Given the description of an element on the screen output the (x, y) to click on. 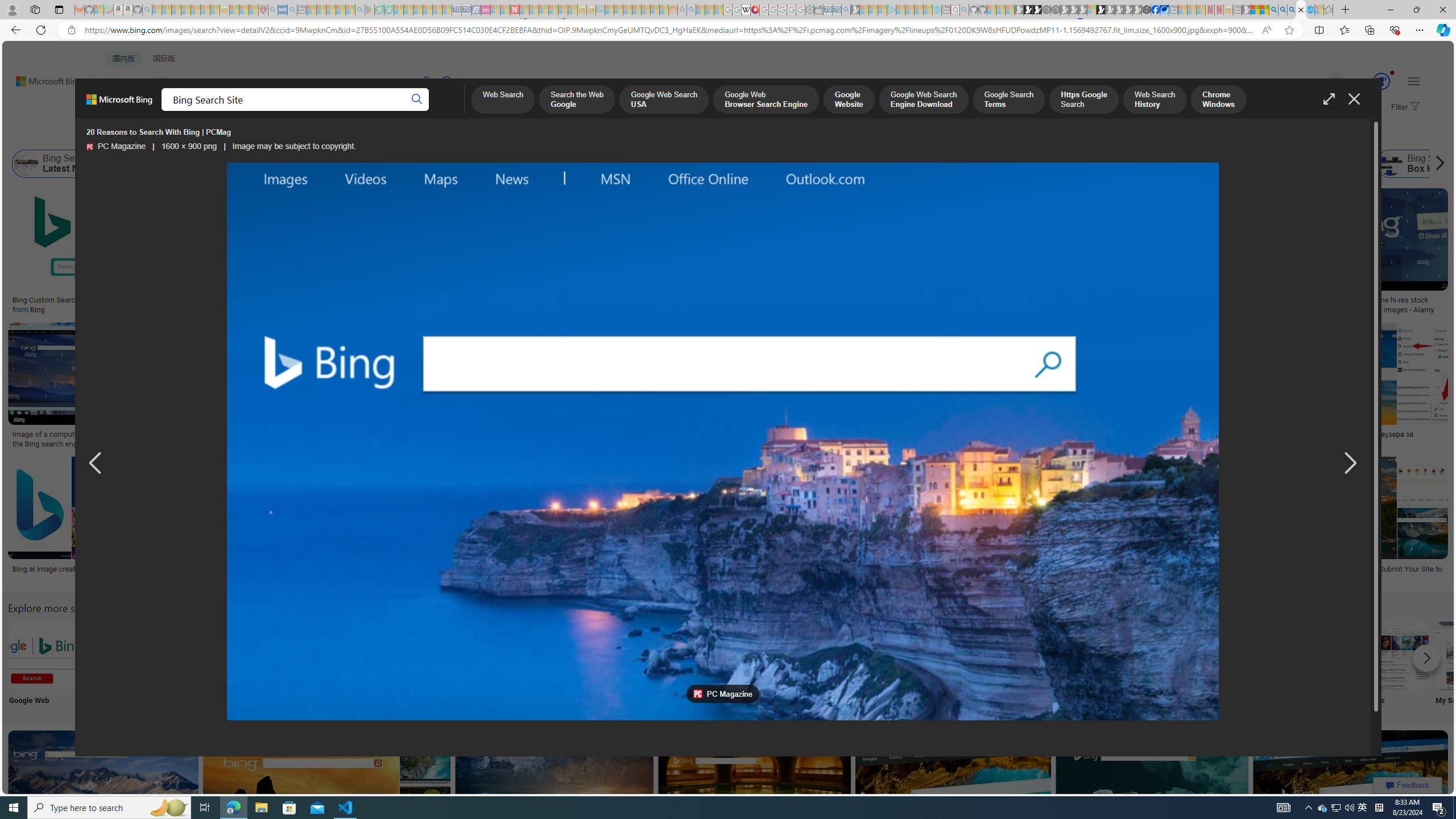
Bing Random Search (794, 654)
FIX: Downloading proxy script message on Google Chrome (526, 573)
Intelligent (1093, 665)
Dropdown Menu (451, 111)
AirNow.gov (1163, 9)
Bing Search Dark Mode Dark Mode (342, 665)
Layout (252, 135)
Nordace - Cooler Bags (1146, 9)
Bing - SEOLendSave (282, 252)
DICT (407, 111)
